Given the description of an element on the screen output the (x, y) to click on. 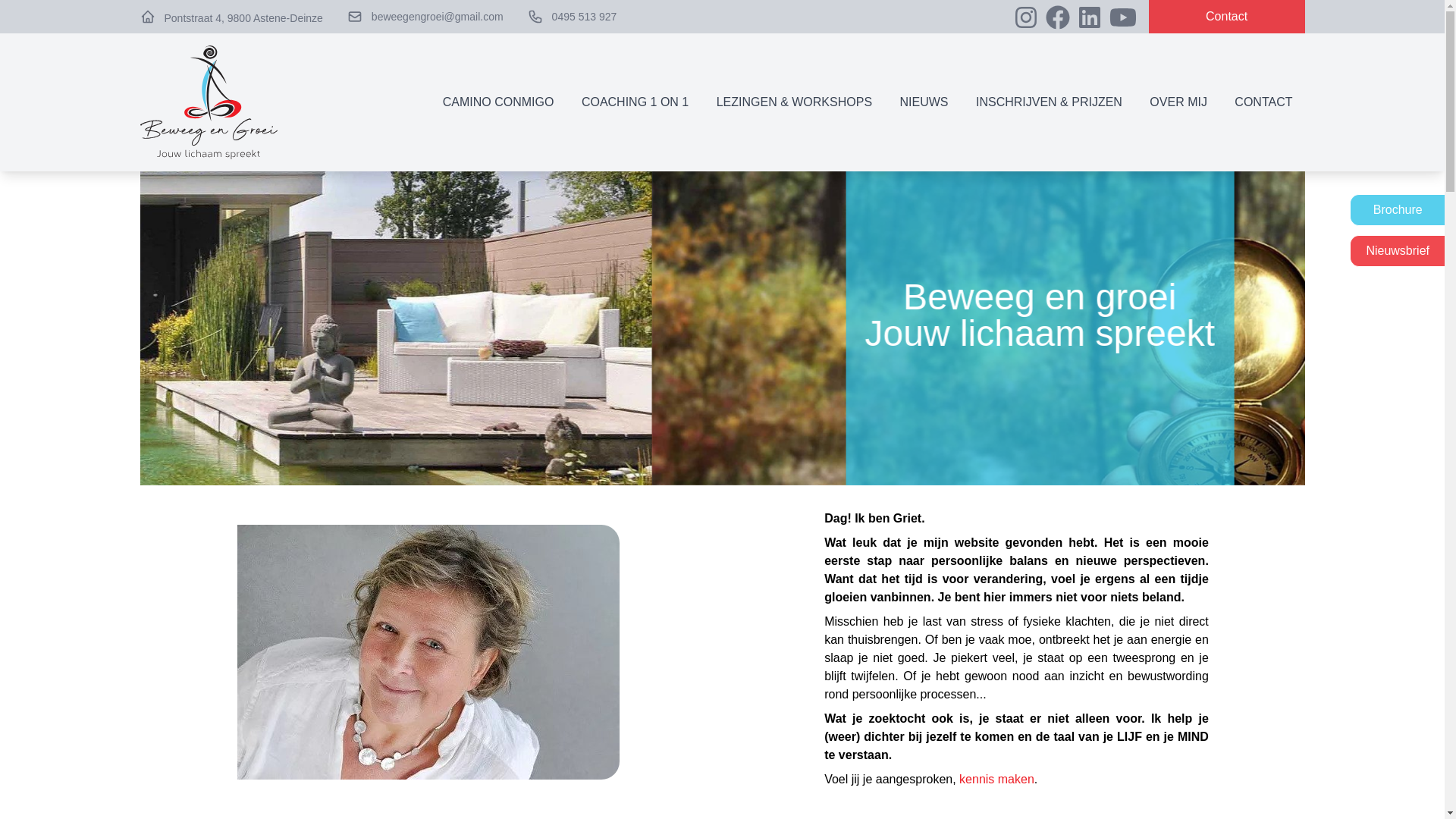
LEZINGEN & WORKSHOPS Element type: text (794, 101)
CAMINO CONMIGO Element type: text (498, 101)
Brochure Element type: text (1396, 209)
INSCHRIJVEN & PRIJZEN Element type: text (1048, 101)
kennis maken Element type: text (996, 778)
Contact Element type: text (1226, 16)
CONTACT Element type: text (1263, 101)
beweegengroei@gmail.com Element type: text (437, 16)
NIEUWS Element type: text (924, 101)
Nieuwsbrief Element type: text (1396, 250)
0495 513 927 Element type: text (584, 16)
COACHING 1 ON 1 Element type: text (634, 101)
OVER MIJ Element type: text (1178, 101)
